Given the description of an element on the screen output the (x, y) to click on. 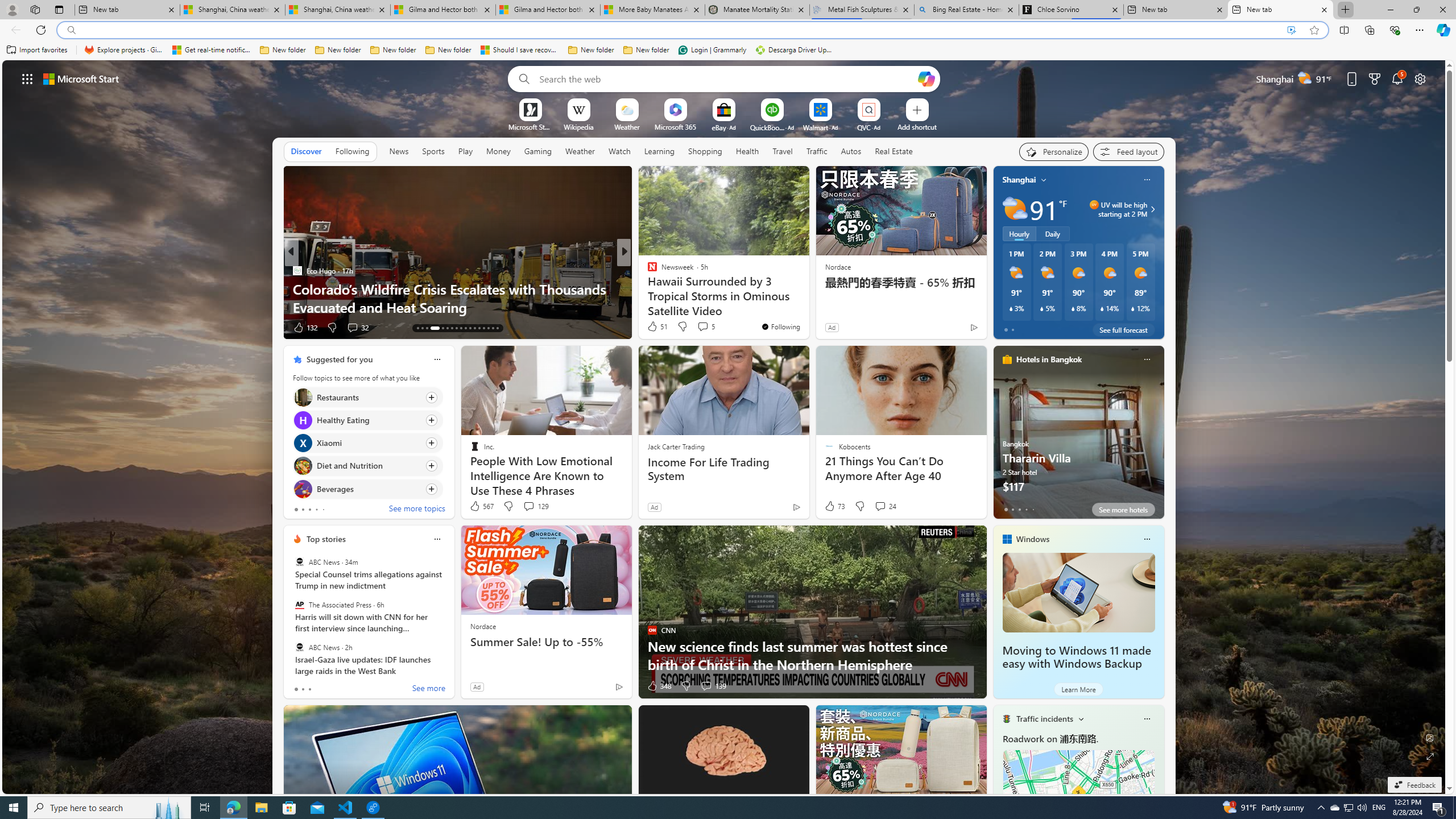
Class: weather-current-precipitation-glyph (1133, 308)
Click to follow topic Healthy Eating (367, 419)
View comments 11 Comment (698, 327)
Class: weather-arrow-glyph (1152, 208)
Moving to Windows 11 made easy with Windows Backup (1076, 657)
See more topics (416, 509)
UV will be high starting at 2 PM (1150, 208)
Travel (782, 151)
Seasonal Smackdown: Cool Air Chases Out Record Heat For East (807, 298)
Autos (850, 151)
AutomationID: tab-26 (465, 328)
